Given the description of an element on the screen output the (x, y) to click on. 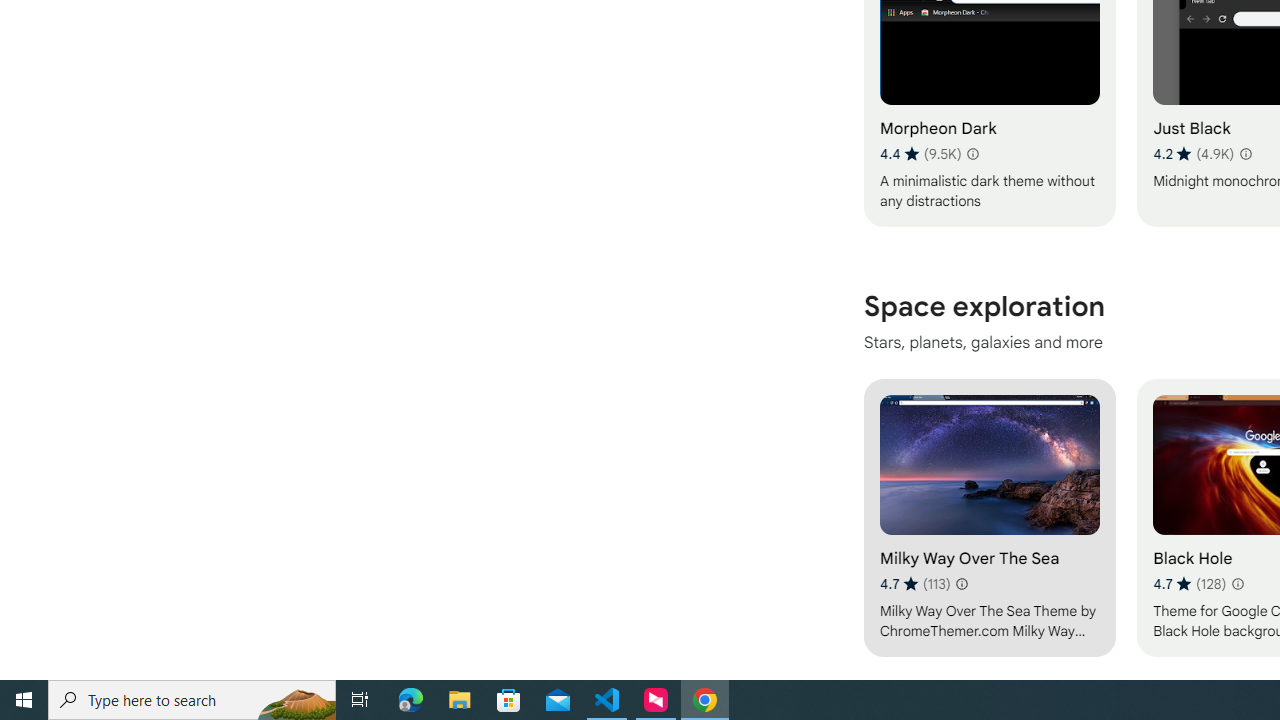
Learn more about results and reviews "Black Hole" (1236, 583)
Average rating 4.7 out of 5 stars. 128 ratings. (1189, 583)
Average rating 4.7 out of 5 stars. 113 ratings. (915, 583)
Average rating 4.4 out of 5 stars. 9.5K ratings. (920, 154)
Learn more about results and reviews "Just Black" (1244, 153)
Milky Way Over The Sea (989, 517)
Learn more about results and reviews "Morpheon Dark" (971, 153)
Average rating 4.2 out of 5 stars. 4.9K ratings. (1192, 154)
